Given the description of an element on the screen output the (x, y) to click on. 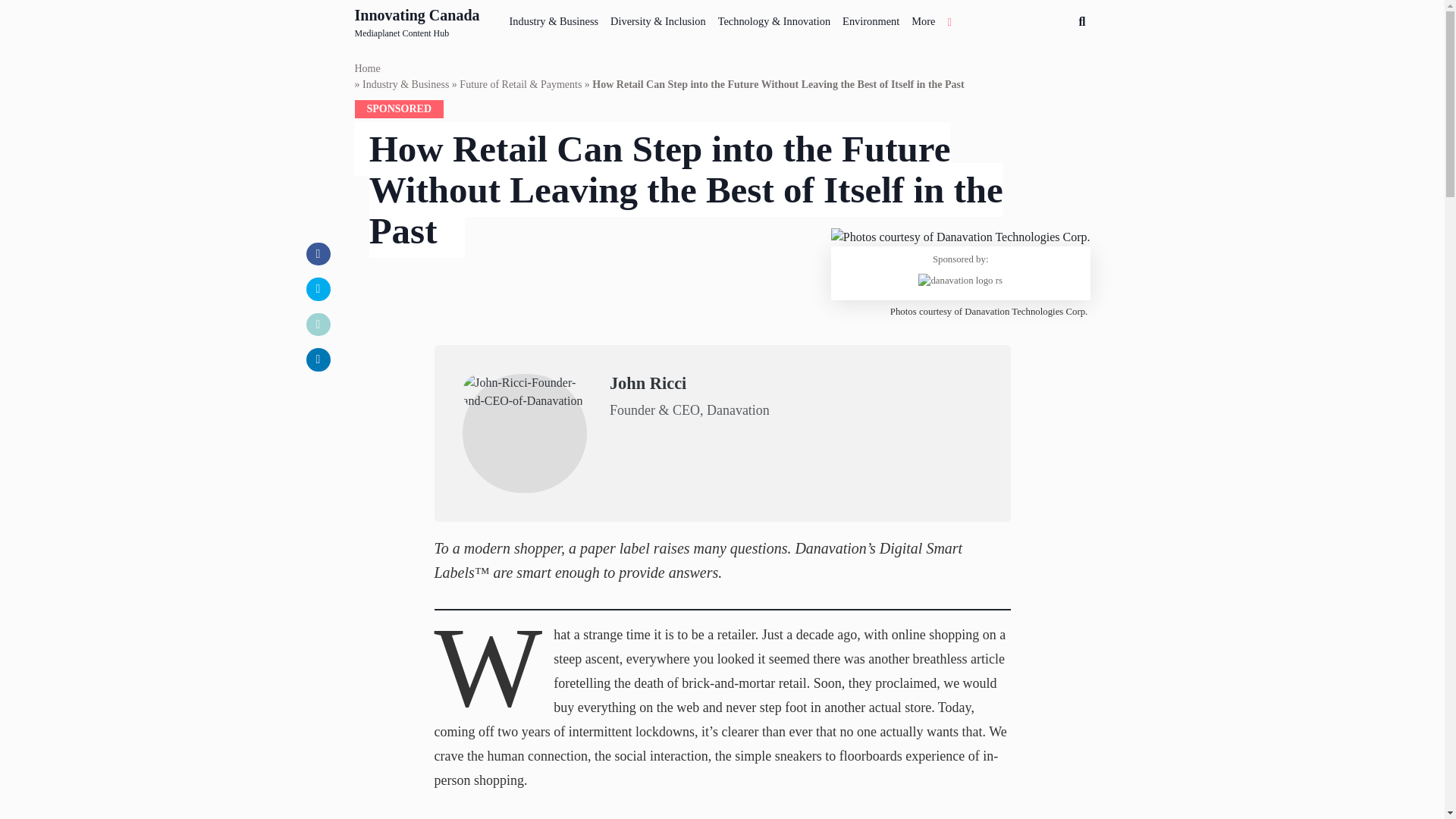
Environment (870, 18)
More (922, 18)
